Given the description of an element on the screen output the (x, y) to click on. 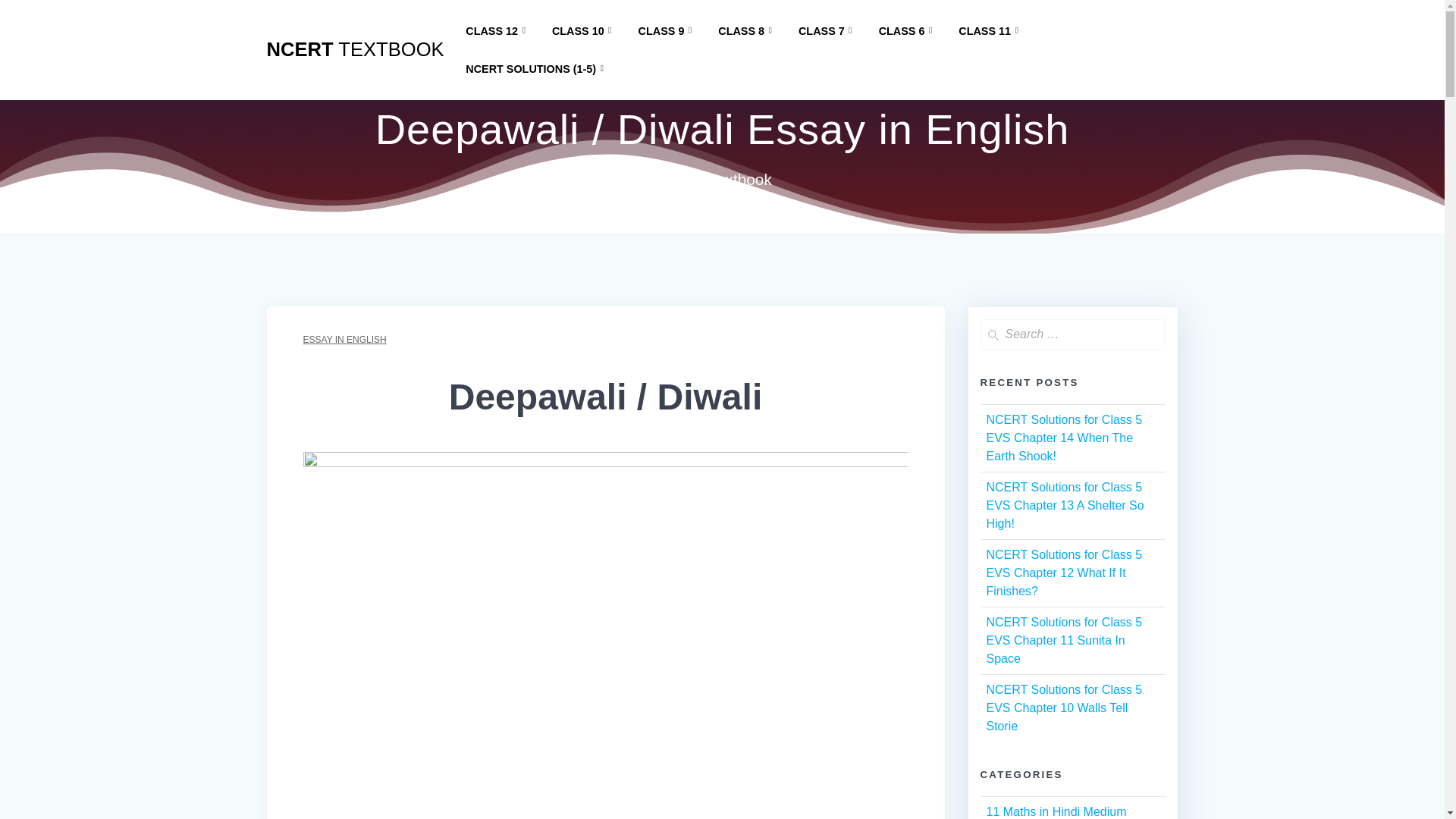
CLASS 10 (584, 31)
CLASS 12 (498, 31)
NCERT TEXTBOOK (355, 49)
